Given the description of an element on the screen output the (x, y) to click on. 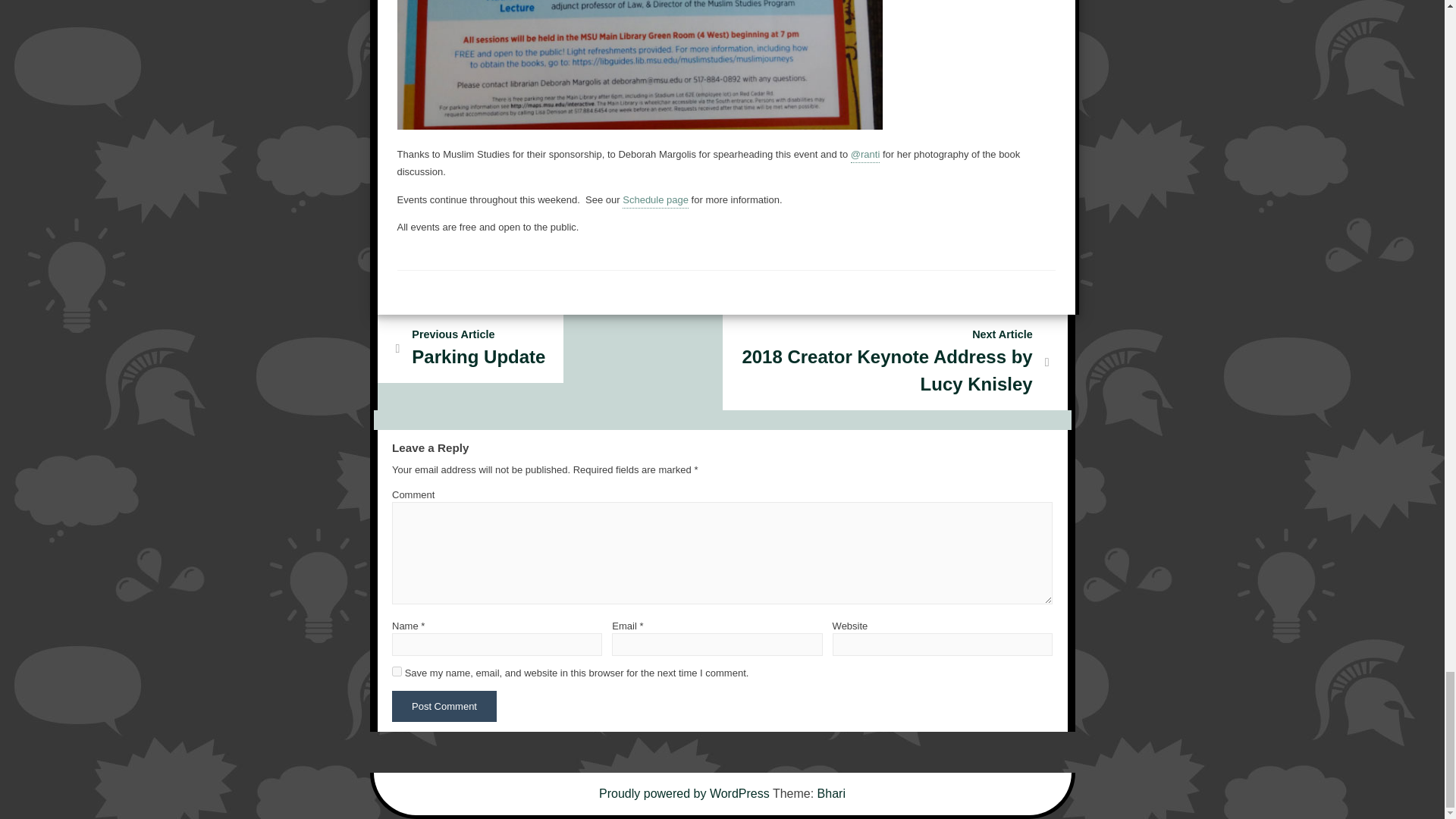
Post Comment (443, 706)
Post Comment (443, 706)
Bhari (830, 793)
Schedule page (894, 362)
Proudly powered by WordPress (655, 201)
yes (685, 793)
